Given the description of an element on the screen output the (x, y) to click on. 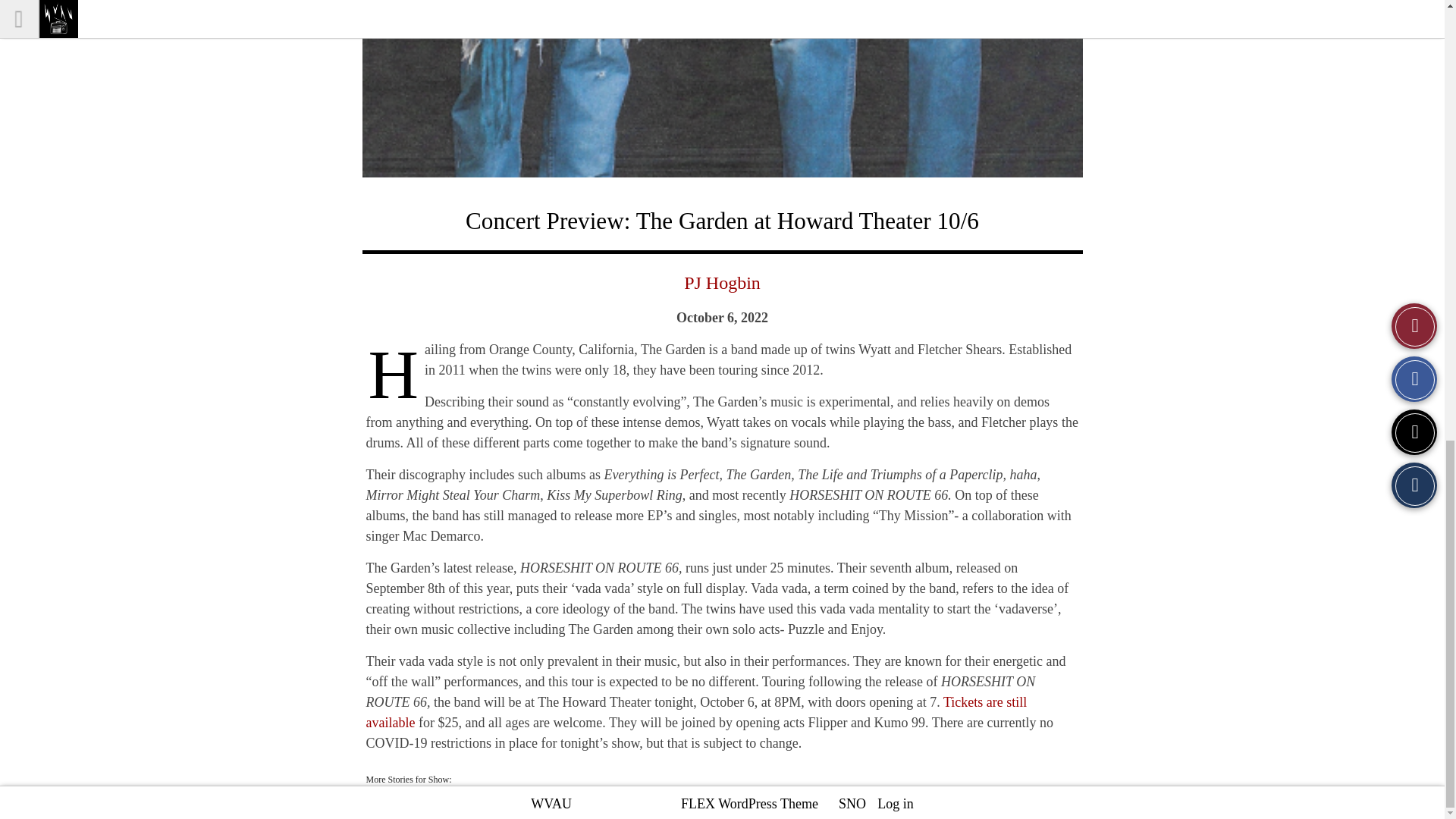
FLEX WordPress Theme (749, 803)
PJ Hogbin (722, 282)
Log in (895, 803)
WVAU (551, 803)
Tickets are still available (695, 712)
SNO (852, 803)
